Given the description of an element on the screen output the (x, y) to click on. 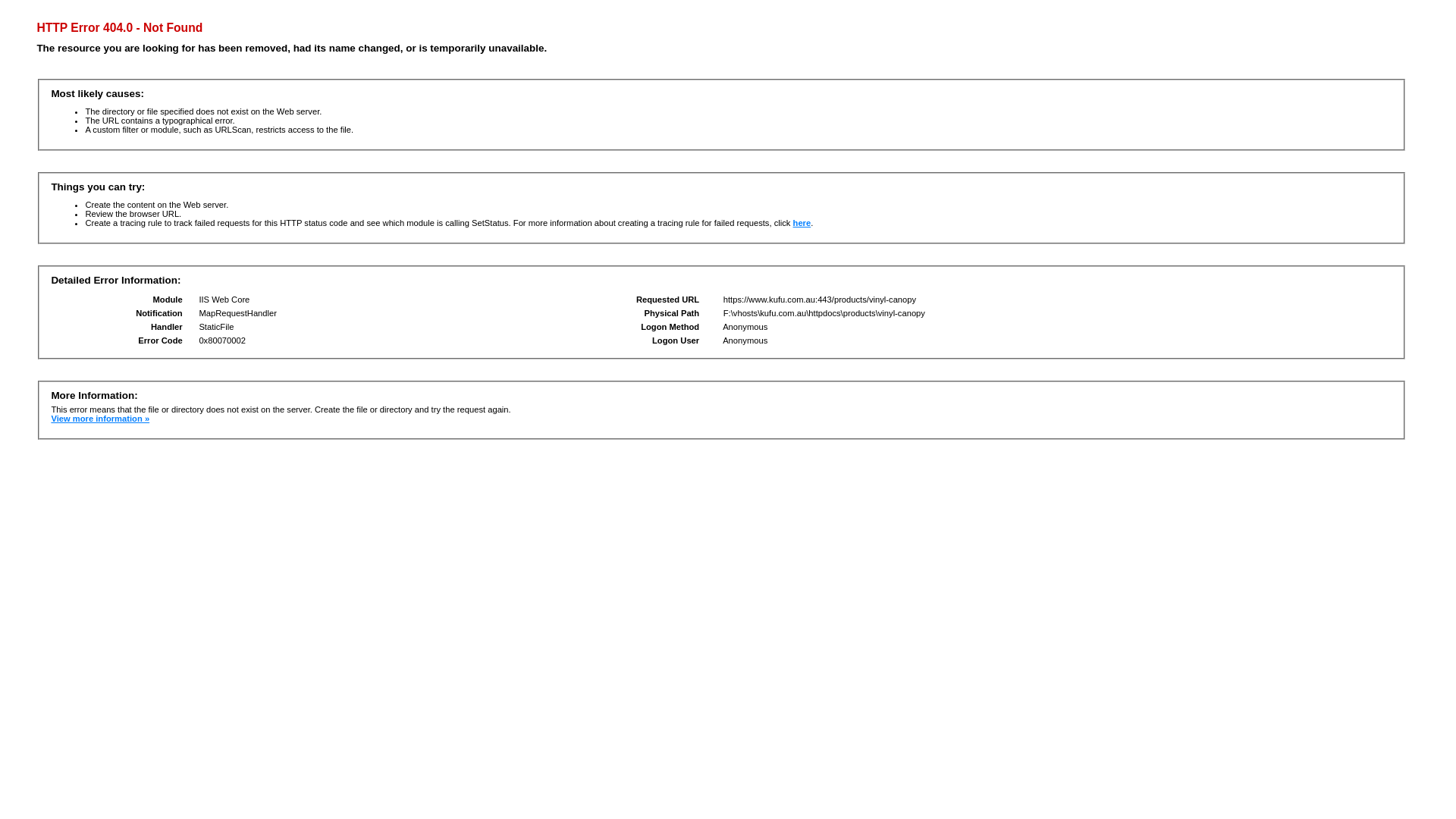
here Element type: text (802, 222)
